Given the description of an element on the screen output the (x, y) to click on. 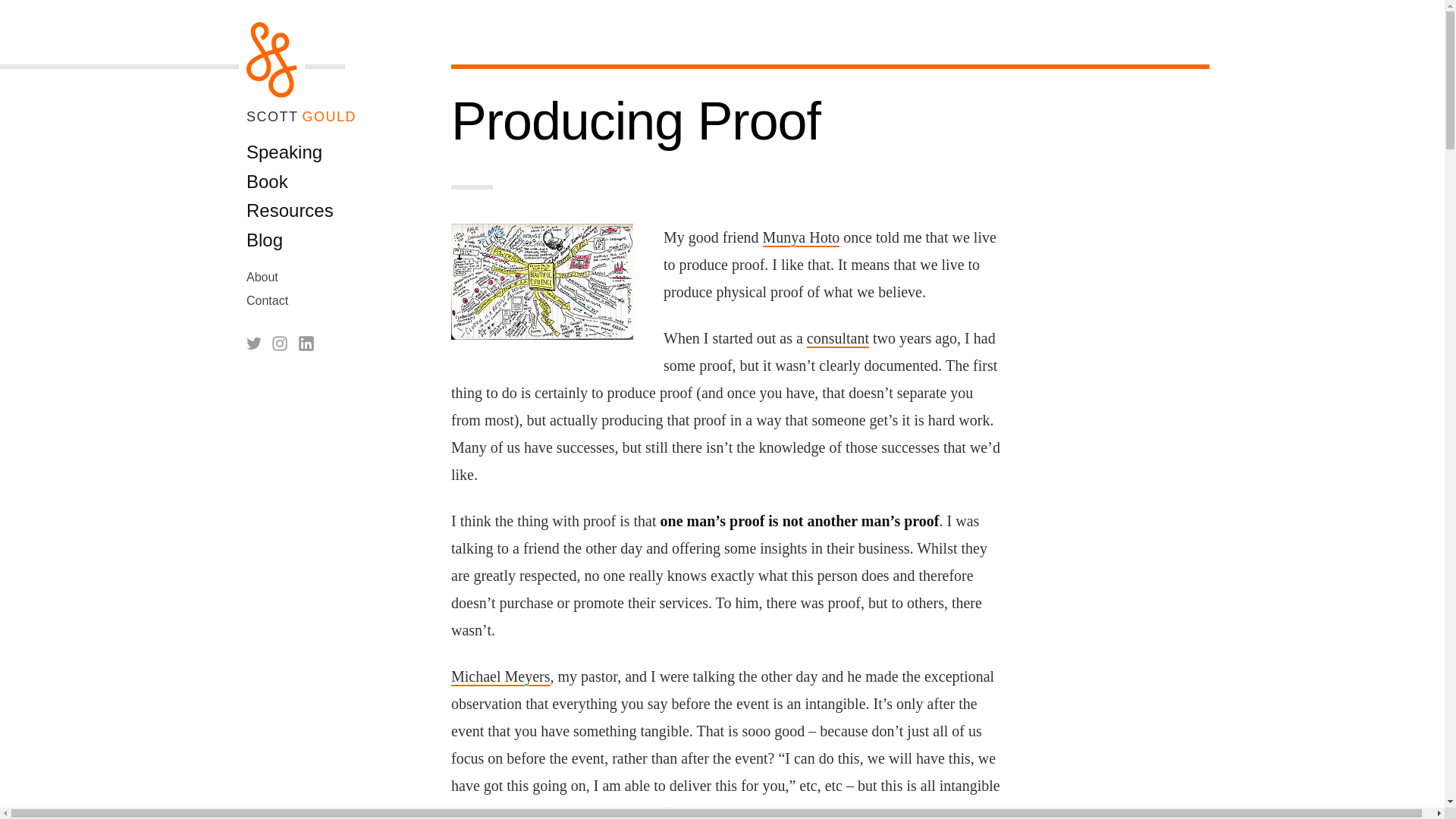
Speaking (283, 151)
Resources (289, 209)
Munya Hoto (801, 237)
About (262, 277)
SCOTTGOULD (301, 116)
Michael Meyers (500, 676)
Contact (267, 300)
Blog (264, 240)
Book (267, 181)
consultant (837, 338)
